Given the description of an element on the screen output the (x, y) to click on. 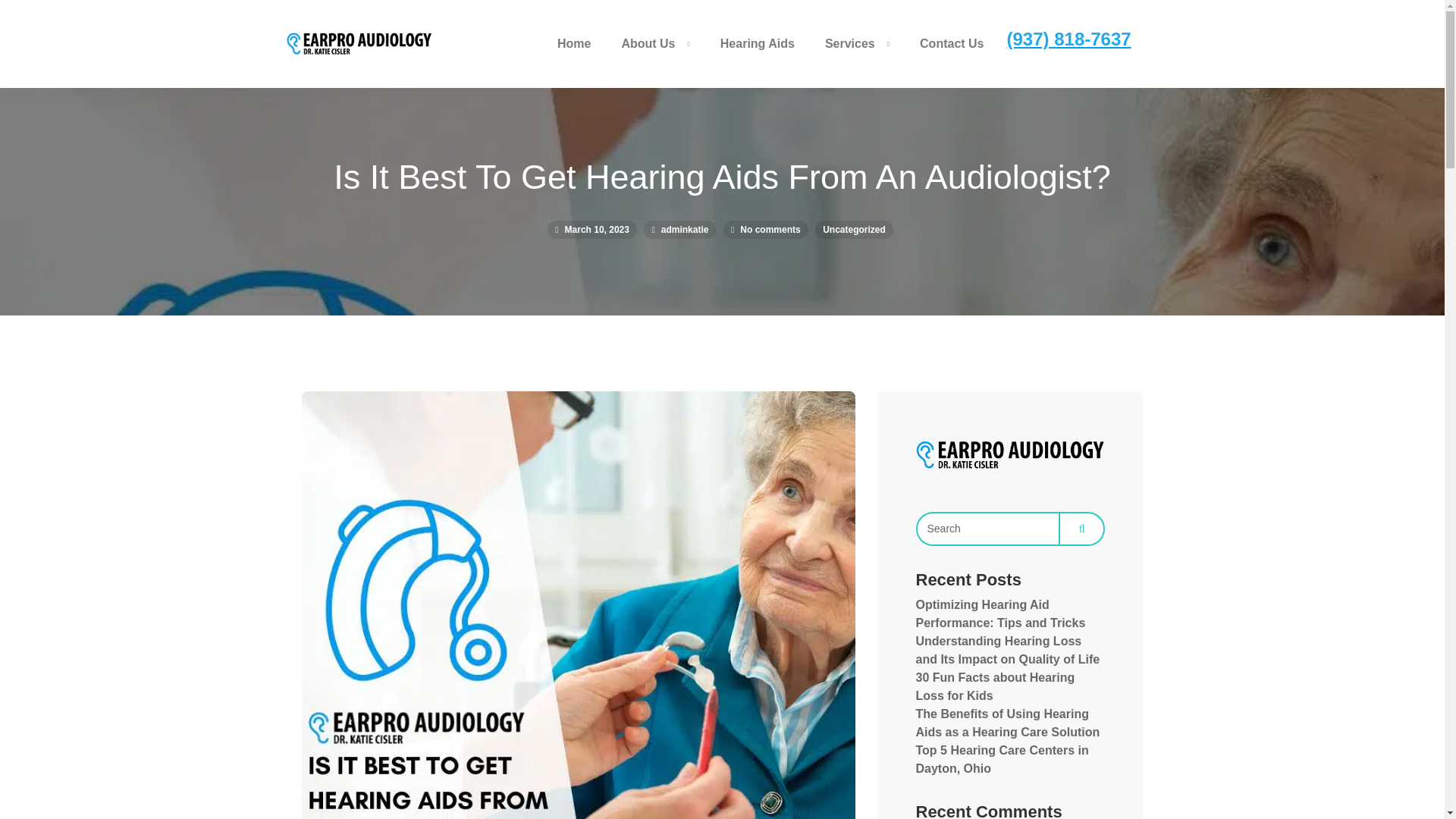
Understanding Hearing Loss and Its Impact on Quality of Life (1007, 649)
Services (856, 43)
Hearing Aids (756, 43)
March 10, 2023 (592, 229)
No comments (769, 229)
30 Fun Facts about Hearing Loss for Kids (995, 685)
Optimizing Hearing Aid Performance: Tips and Tricks (1000, 613)
Top 5 Hearing Care Centers in Dayton, Ohio (1002, 758)
adminkatie (679, 229)
About Us (654, 43)
Contact Us (951, 43)
